Given the description of an element on the screen output the (x, y) to click on. 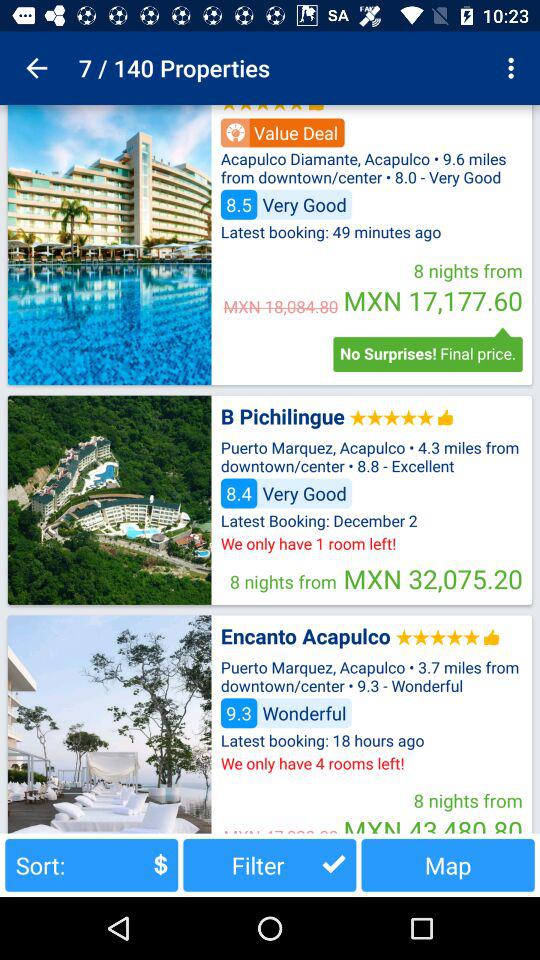
open the button to the left of map (269, 864)
